Given the description of an element on the screen output the (x, y) to click on. 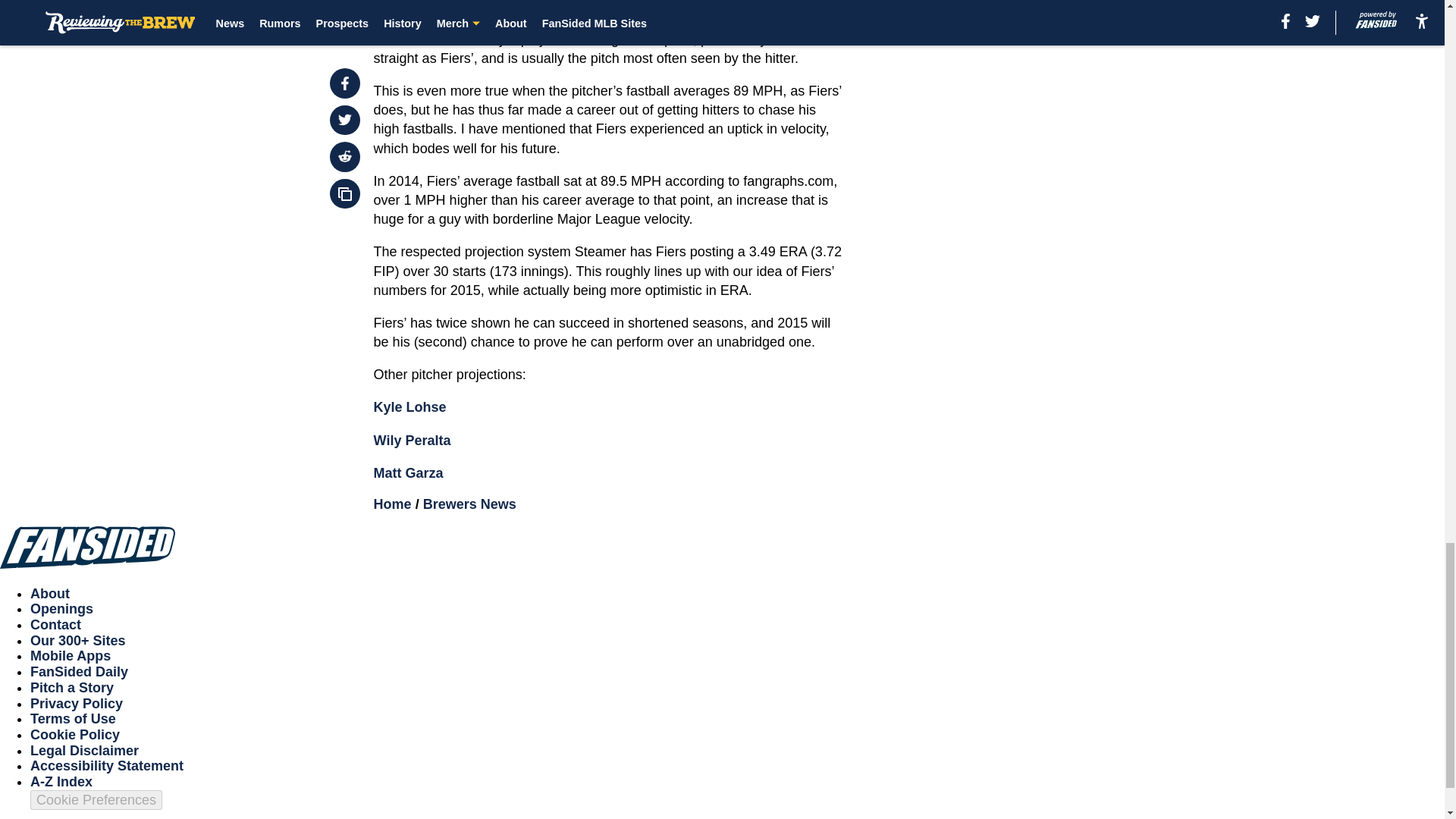
Wily Peralta (412, 440)
Brewers News (469, 503)
Matt Garza (409, 473)
Home (393, 503)
About (49, 593)
Kyle Lohse (410, 406)
